Given the description of an element on the screen output the (x, y) to click on. 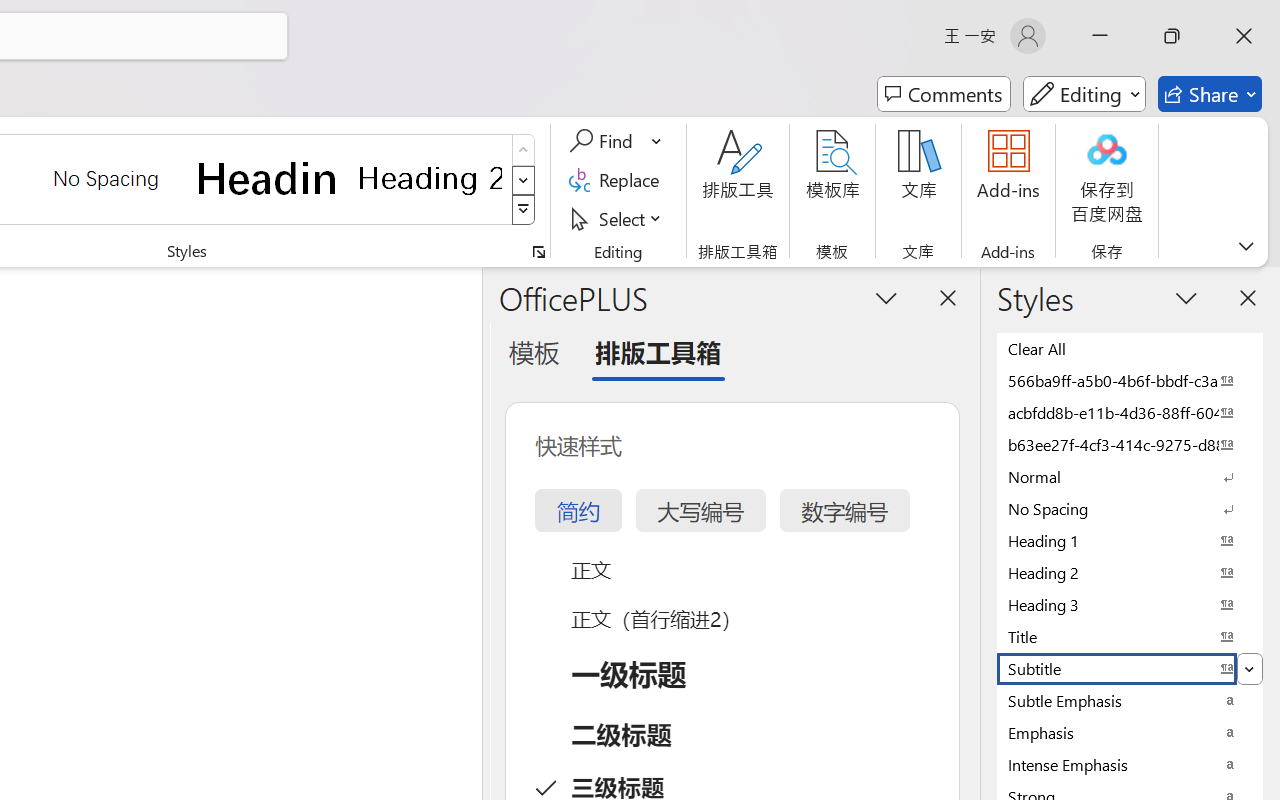
Class: NetUIImage (523, 210)
Find (616, 141)
Clear All (1130, 348)
Select (618, 218)
Styles... (538, 252)
Subtle Emphasis (1130, 700)
acbfdd8b-e11b-4d36-88ff-6049b138f862 (1130, 412)
Comments (943, 94)
Restore Down (1172, 36)
